Given the description of an element on the screen output the (x, y) to click on. 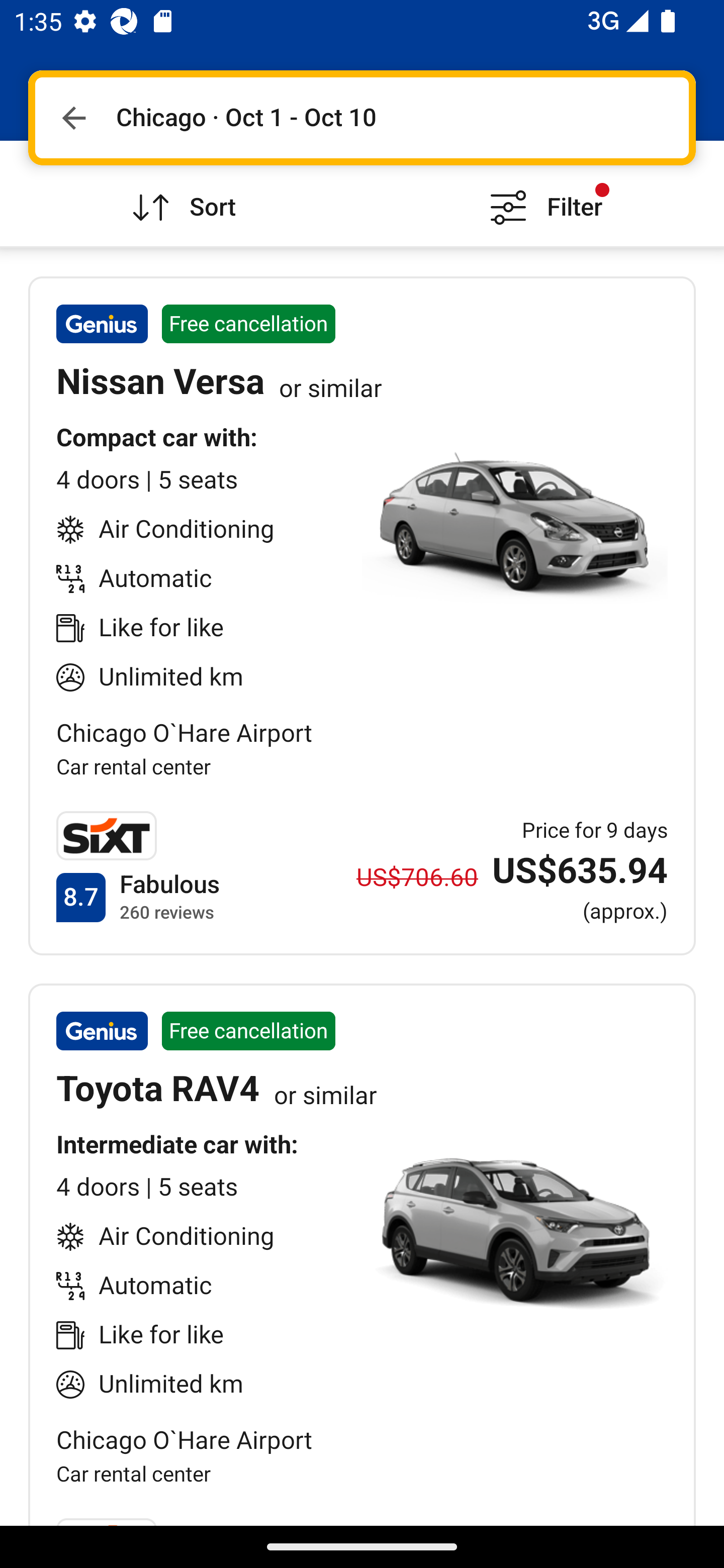
Back to previous screen (73, 117)
Sort (181, 193)
Filter (543, 193)
